Given the description of an element on the screen output the (x, y) to click on. 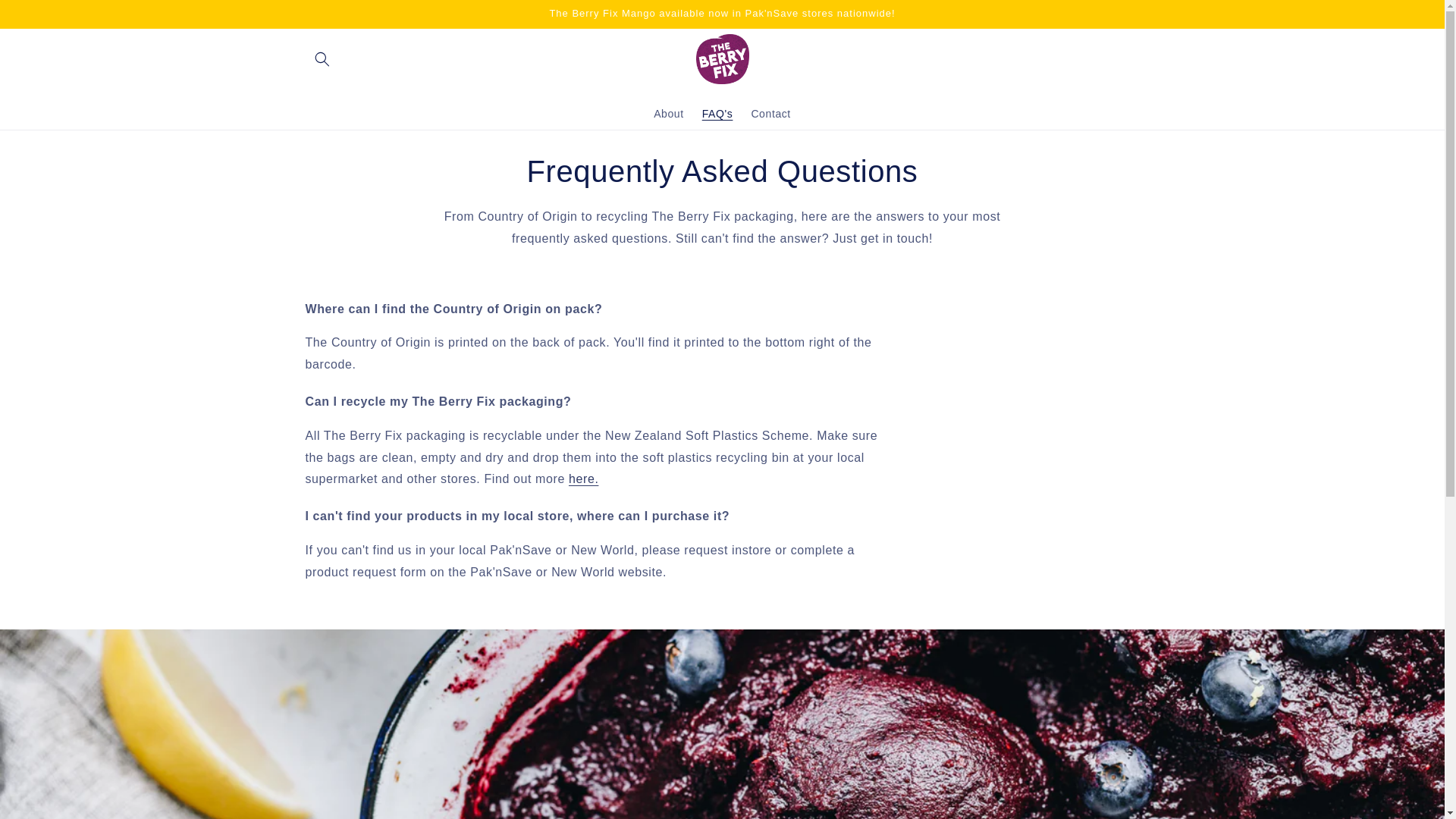
here. (583, 478)
Contact (770, 113)
About (669, 113)
FAQ's (717, 113)
Skip to content (45, 17)
